Given the description of an element on the screen output the (x, y) to click on. 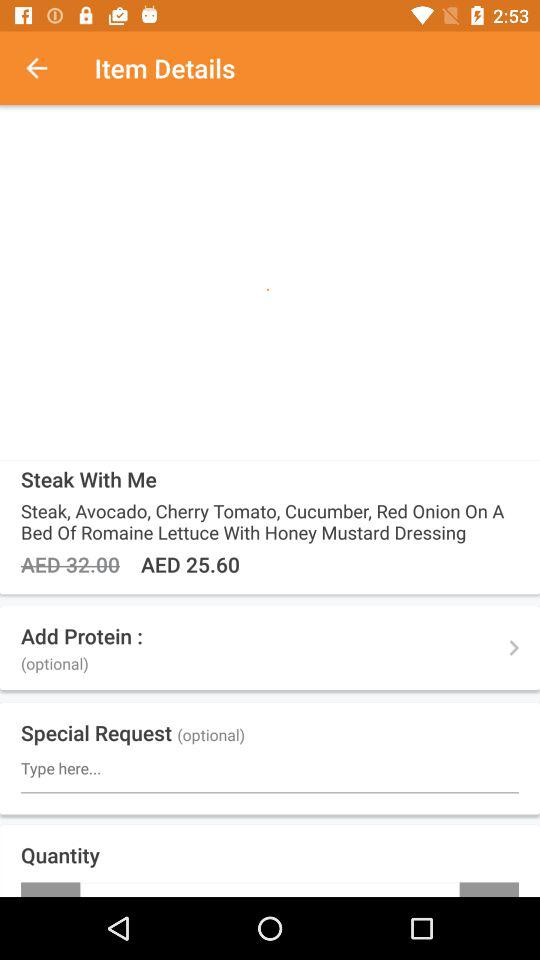
previous page (47, 68)
